Given the description of an element on the screen output the (x, y) to click on. 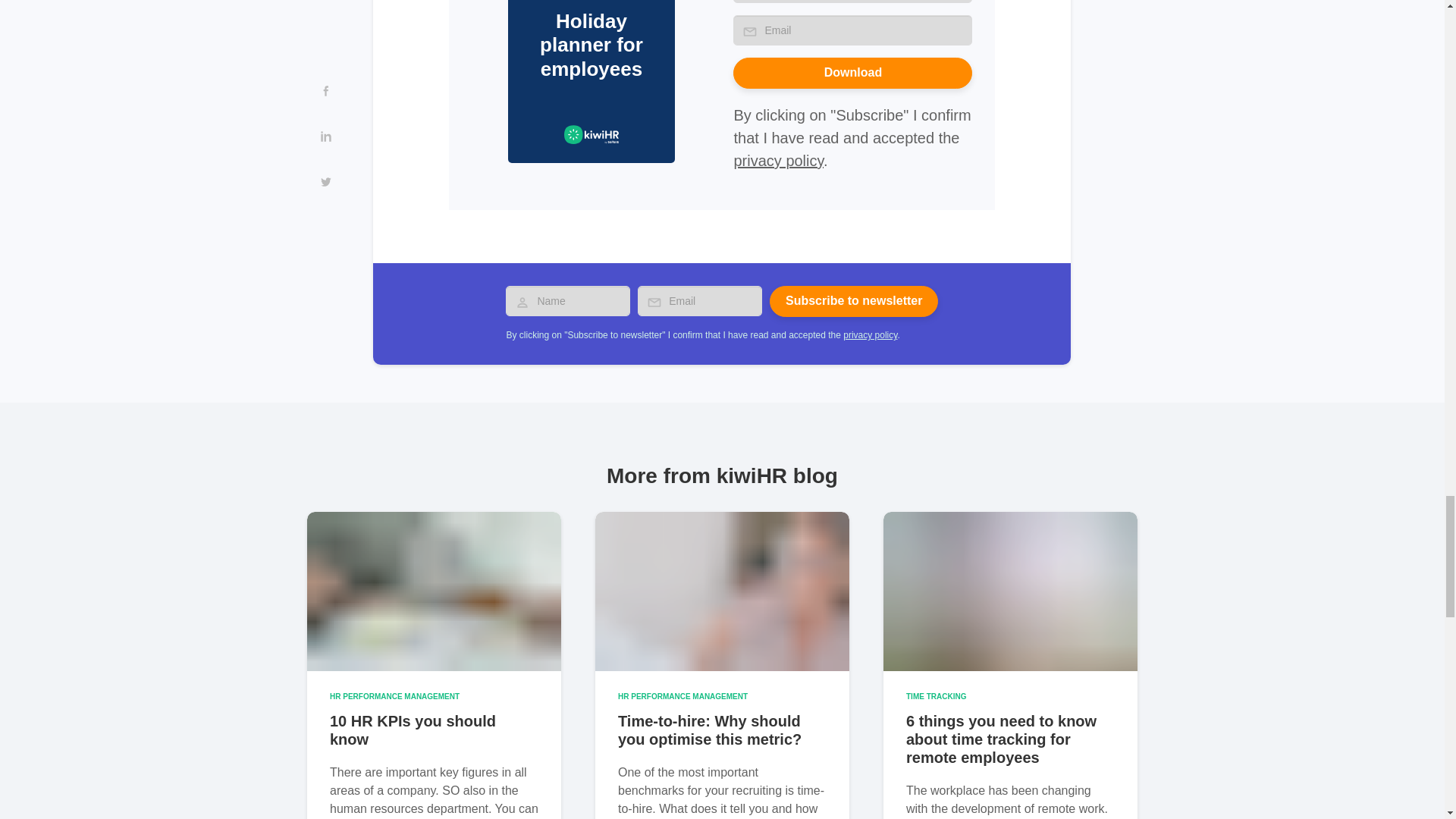
hr-software-kiwihr-en-inversed (592, 134)
